Given the description of an element on the screen output the (x, y) to click on. 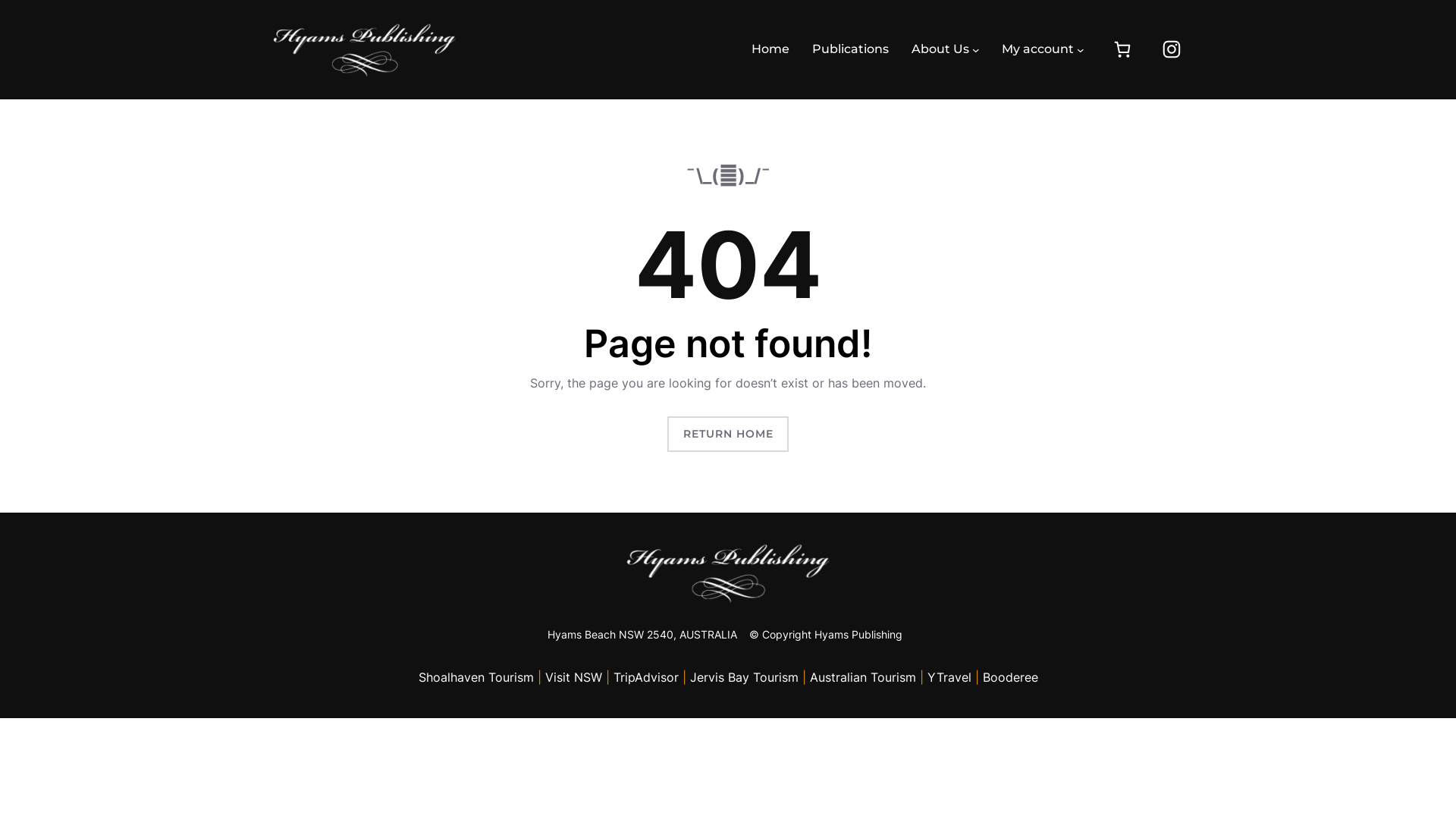
TripAdvisor  Element type: text (646, 676)
YTravel Element type: text (948, 676)
Home Element type: text (770, 48)
Booderee Element type: text (1010, 676)
About Us Element type: text (940, 48)
Publications Element type: text (850, 48)
Instagram Element type: text (1171, 48)
Jervis Bay Tourism Element type: text (744, 676)
My account Element type: text (1037, 48)
Australian Tourism Element type: text (862, 676)
Visit NSW Element type: text (572, 676)
Shoalhaven Tourism Element type: text (475, 676)
RETURN HOME Element type: text (727, 433)
